Given the description of an element on the screen output the (x, y) to click on. 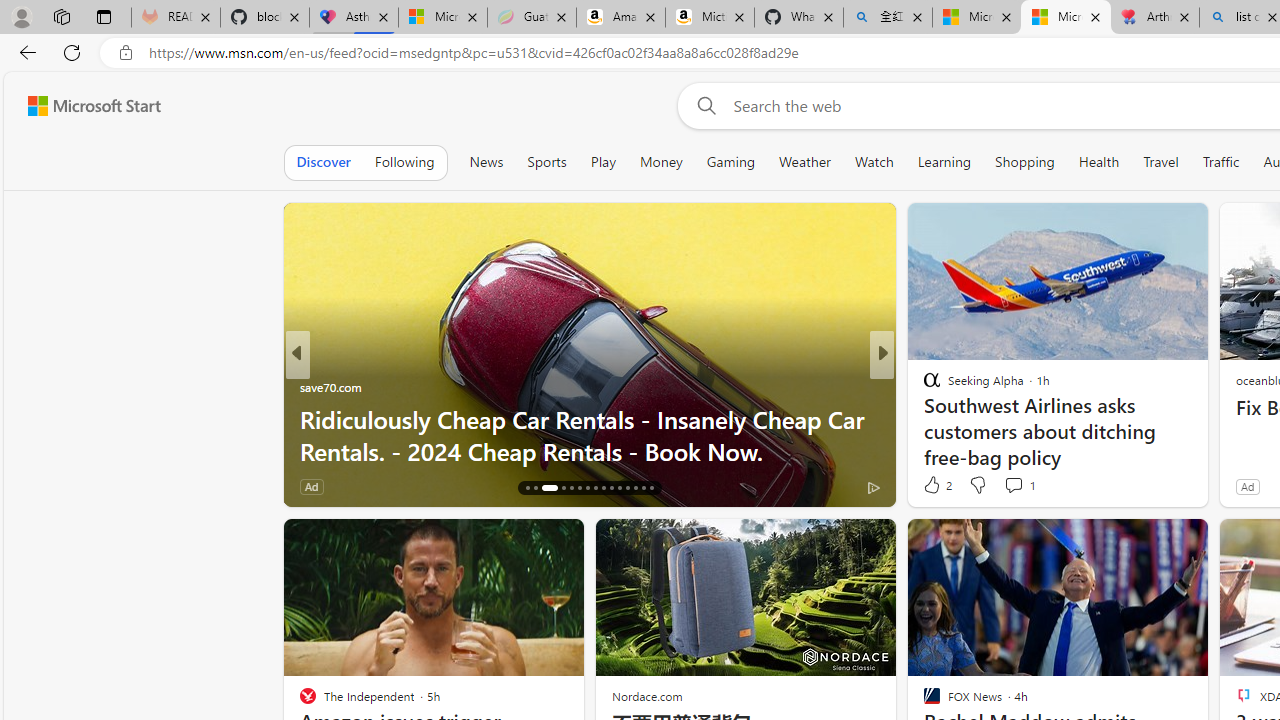
Start the conversation (1013, 486)
See more (1183, 542)
AutomationID: tab-24 (603, 487)
View comments 20 Comment (1029, 486)
Money (660, 161)
HowToGeek (923, 386)
71 Like (934, 486)
Money (661, 162)
Nordace (938, 418)
16 Like (934, 486)
136 Like (320, 486)
Marie Claire UK (307, 386)
View comments 25 Comment (1014, 485)
Skip to content (86, 105)
